Given the description of an element on the screen output the (x, y) to click on. 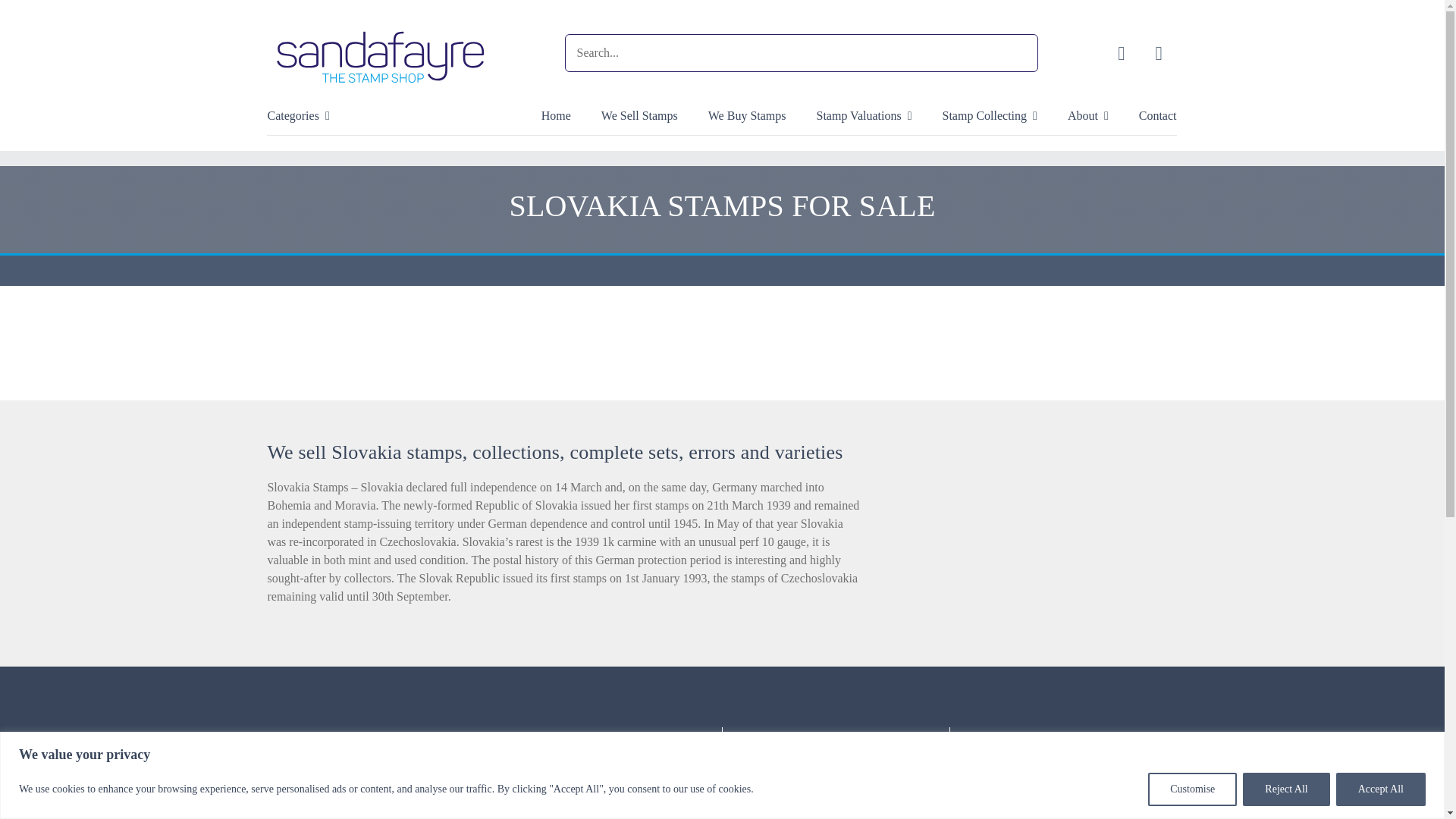
Accept All (1380, 788)
Customise (1192, 788)
Reject All (1286, 788)
Categories (297, 130)
